Given the description of an element on the screen output the (x, y) to click on. 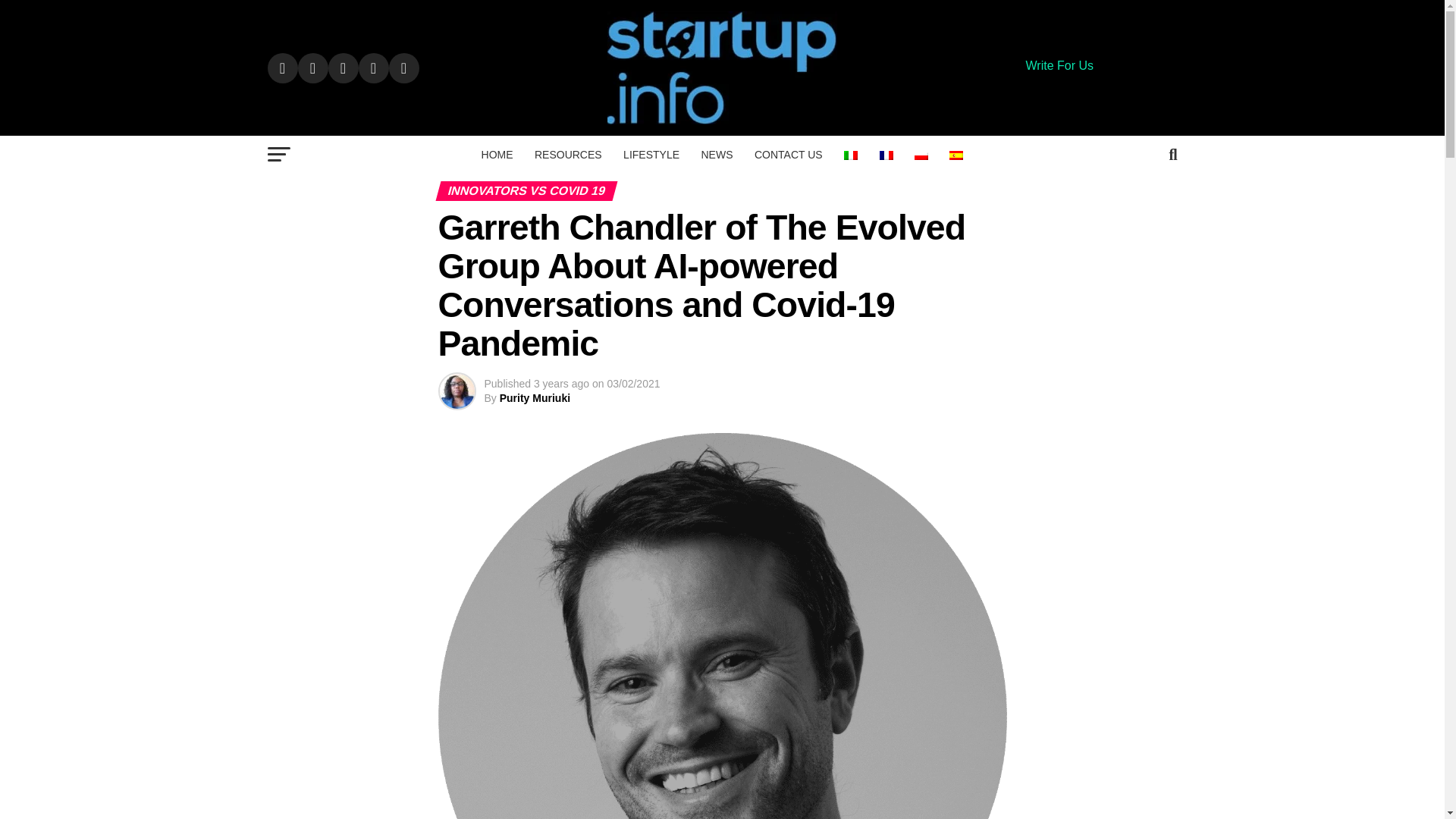
HOME (496, 154)
NEWS (716, 154)
Write For Us (1059, 65)
LIFESTYLE (651, 154)
RESOURCES (568, 154)
